Given the description of an element on the screen output the (x, y) to click on. 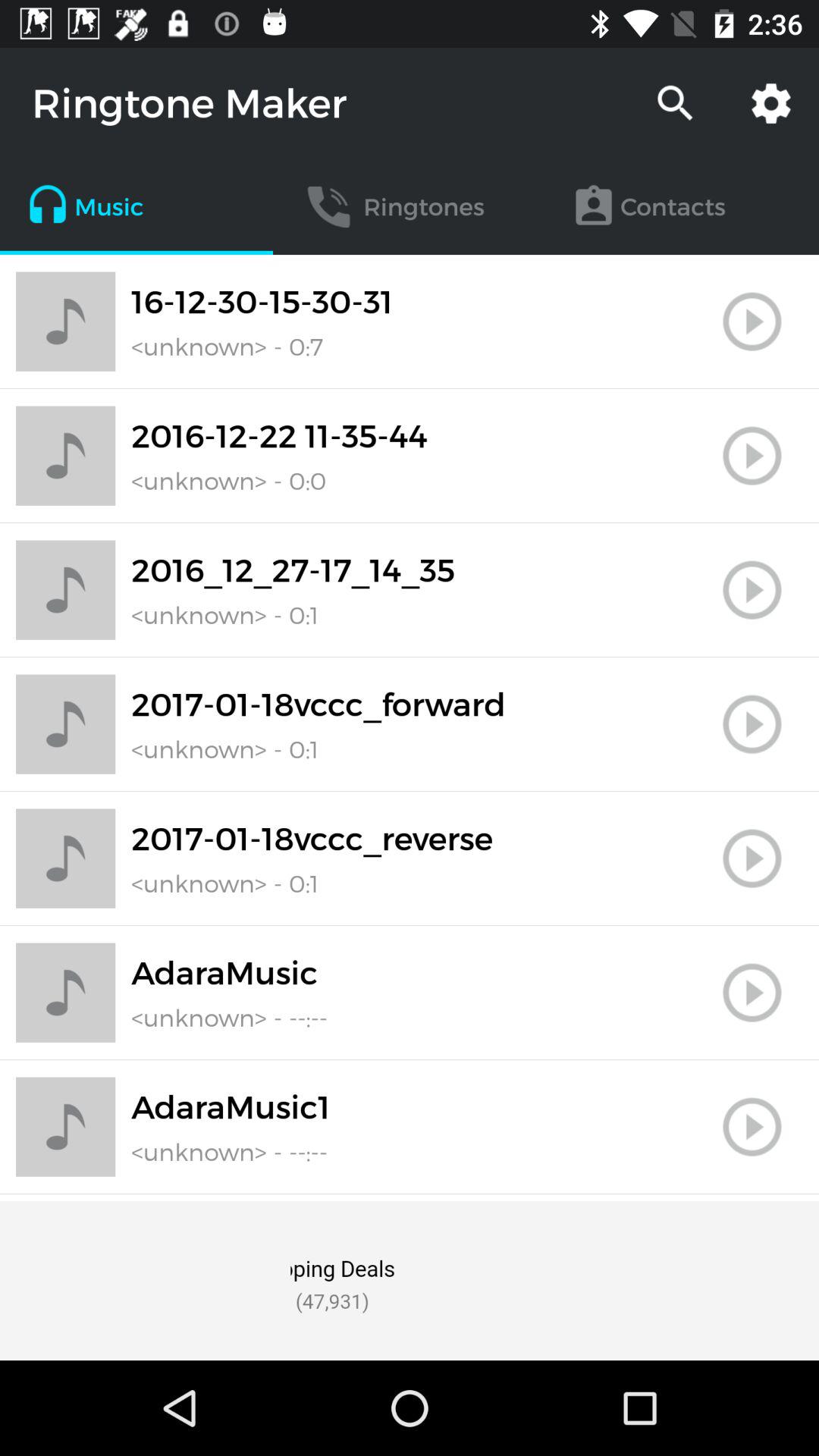
go to play (752, 321)
